Given the description of an element on the screen output the (x, y) to click on. 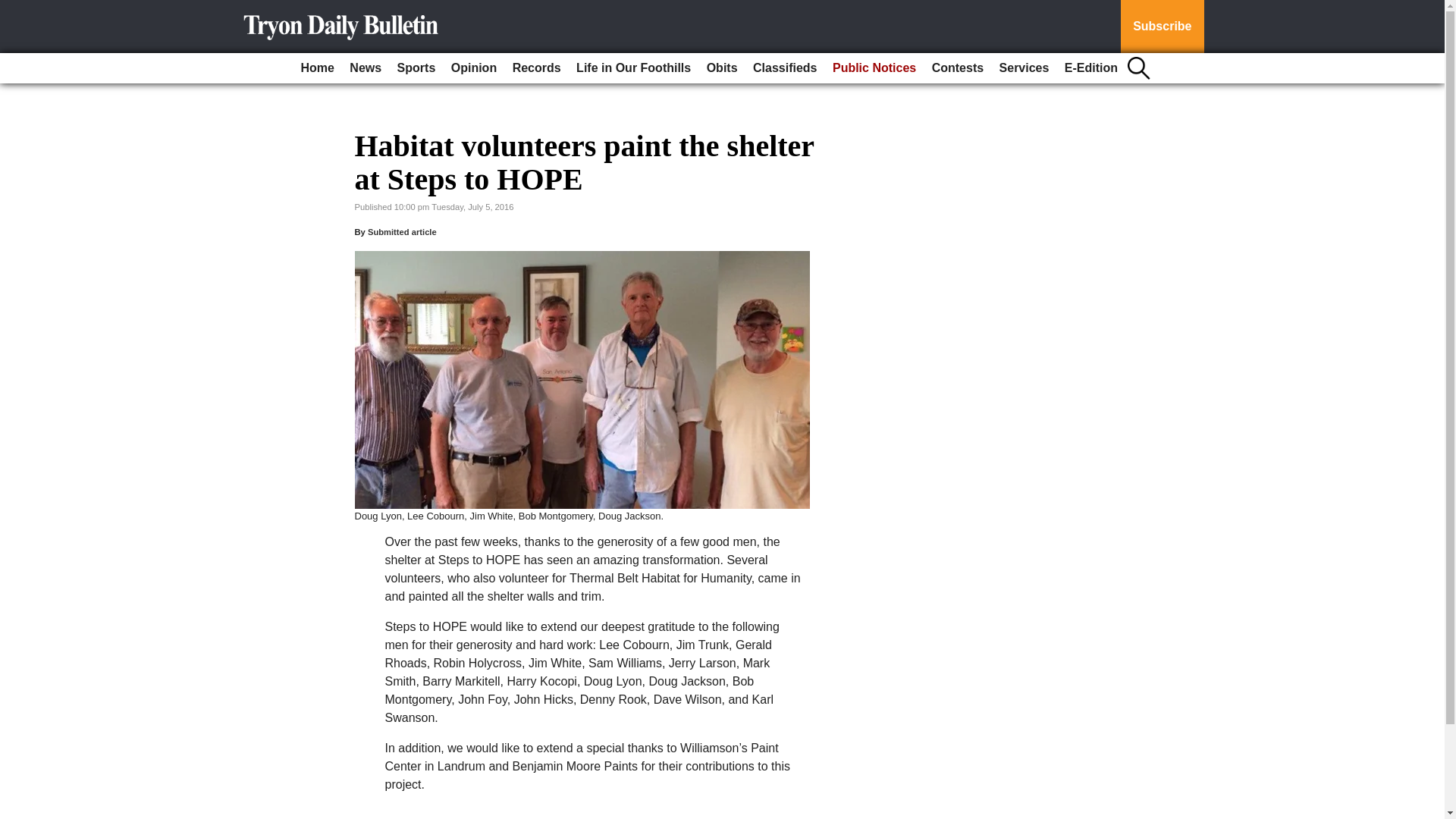
Submitted article (402, 231)
Sports (416, 68)
Services (1023, 68)
Public Notices (874, 68)
E-Edition (1091, 68)
News (365, 68)
Contests (958, 68)
Subscribe (1162, 26)
Life in Our Foothills (633, 68)
Records (536, 68)
